Given the description of an element on the screen output the (x, y) to click on. 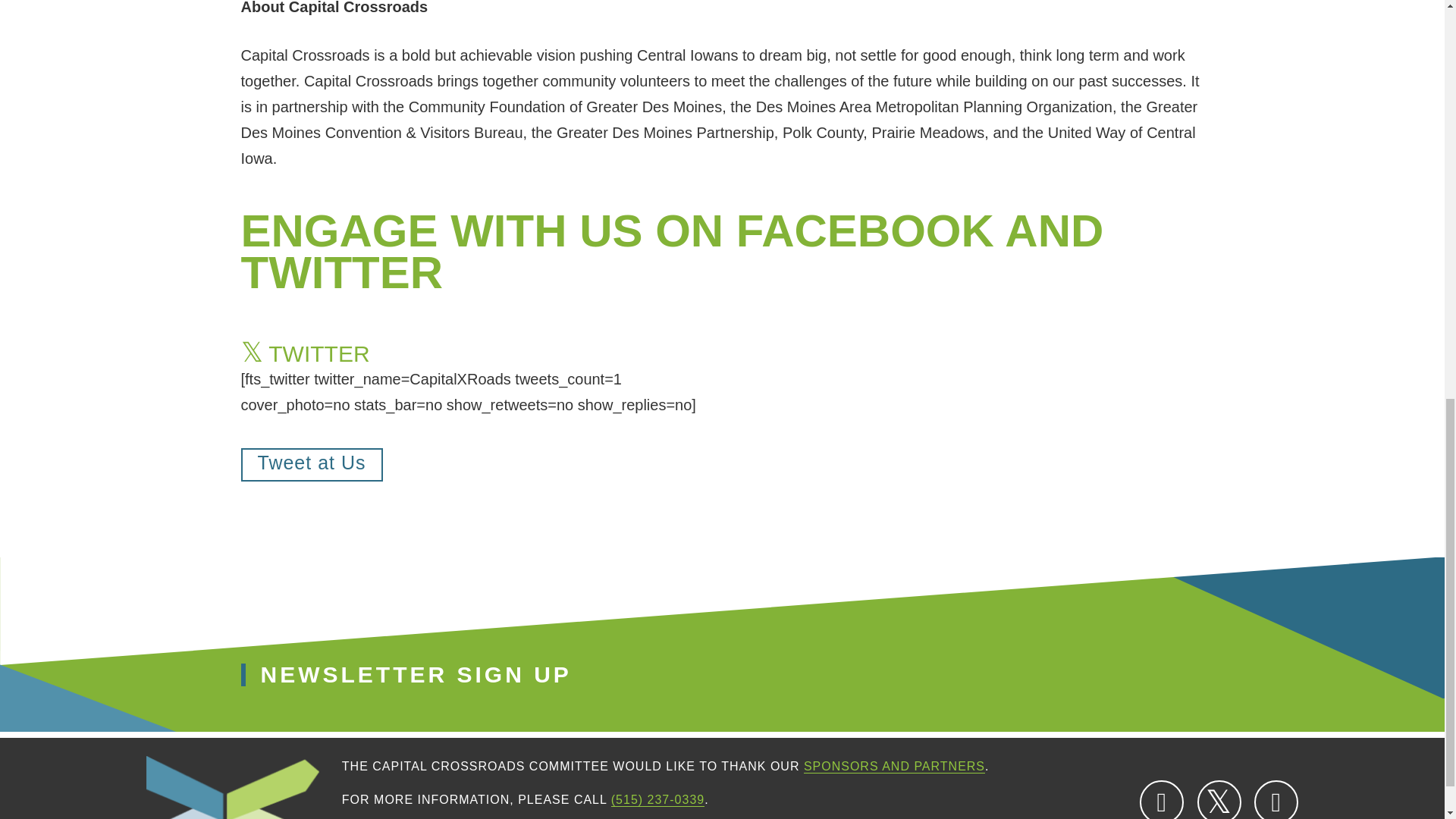
TWITTER (1218, 799)
FACEBOOK (1161, 799)
SPONSORS AND PARTNERS (894, 766)
INSTAGRAM (1275, 799)
Tweet at Us (311, 464)
